Given the description of an element on the screen output the (x, y) to click on. 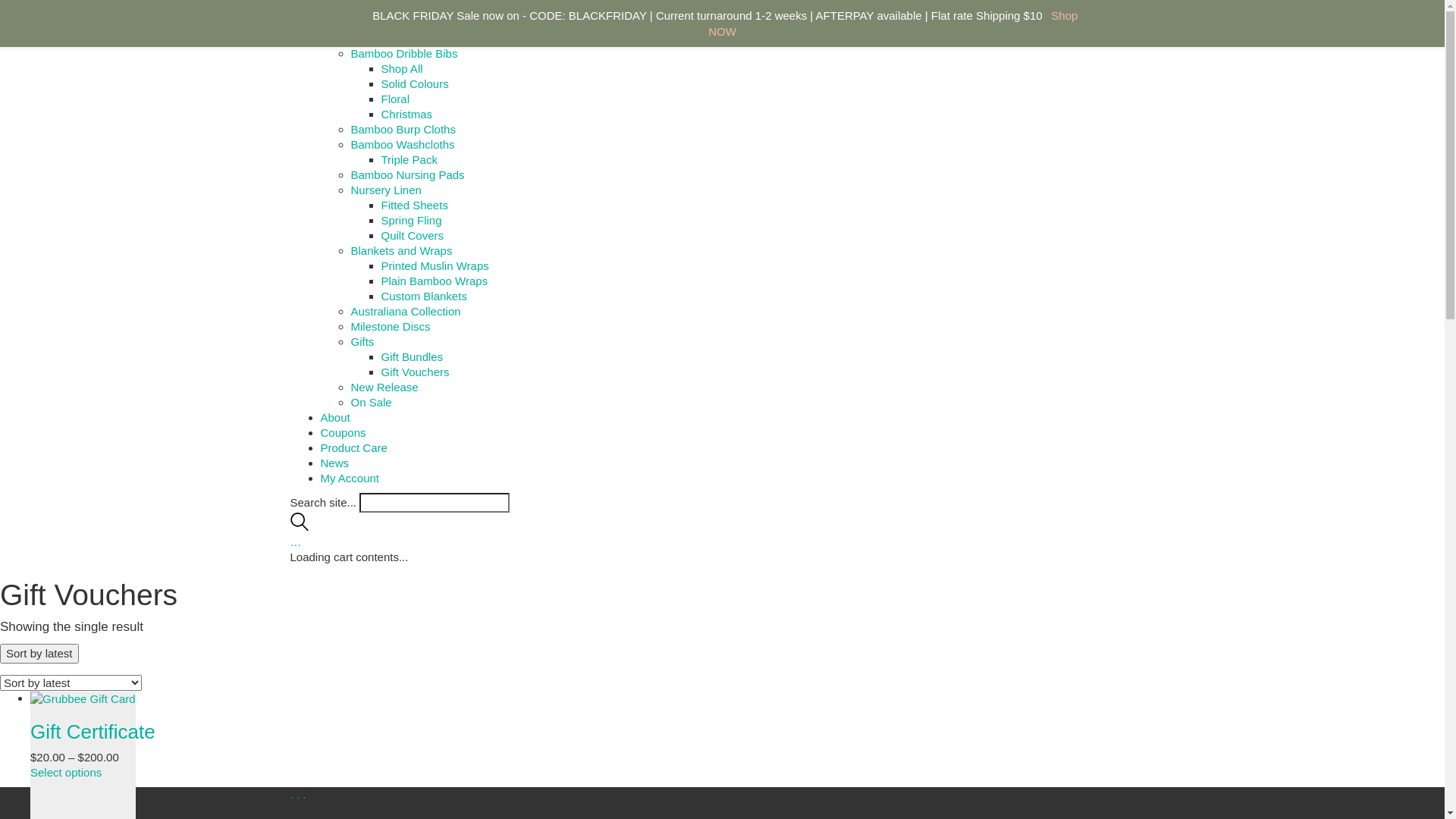
Bamboo Burp Cloths Element type: text (402, 128)
Gifts Element type: text (361, 341)
Gift Bundles Element type: text (411, 356)
Australiana Collection Element type: text (405, 310)
Shop NOW Element type: text (892, 23)
New Release Element type: text (383, 386)
Product Care Element type: text (353, 447)
Spring Fling Element type: text (410, 219)
My Account Element type: text (349, 477)
On Sale Element type: text (370, 401)
Gift Certificate Element type: text (92, 731)
Nursery Linen Element type: text (385, 189)
Triple Pack Element type: text (408, 159)
Gift Vouchers Element type: text (414, 371)
Select options Element type: text (65, 771)
Christmas Element type: text (406, 113)
Shop Element type: text (333, 37)
Custom Blankets Element type: text (423, 295)
Printed Muslin Wraps Element type: text (434, 265)
Home Element type: text (335, 22)
Solid Colours Element type: text (414, 83)
Bamboo Nursing Pads Element type: text (407, 174)
Coupons Element type: text (342, 432)
. . . Element type: text (297, 793)
Bamboo Washcloths Element type: text (402, 144)
Shop All Element type: text (401, 68)
Fitted Sheets Element type: text (413, 204)
Blankets and Wraps Element type: text (400, 250)
Floral Element type: text (394, 98)
About Element type: text (334, 417)
News Element type: text (334, 462)
Milestone Discs Element type: text (389, 326)
Bamboo Dribble Bibs Element type: text (403, 53)
Sort by latest Element type: text (39, 653)
Quilt Covers Element type: text (411, 235)
Plain Bamboo Wraps Element type: text (433, 280)
